Given the description of an element on the screen output the (x, y) to click on. 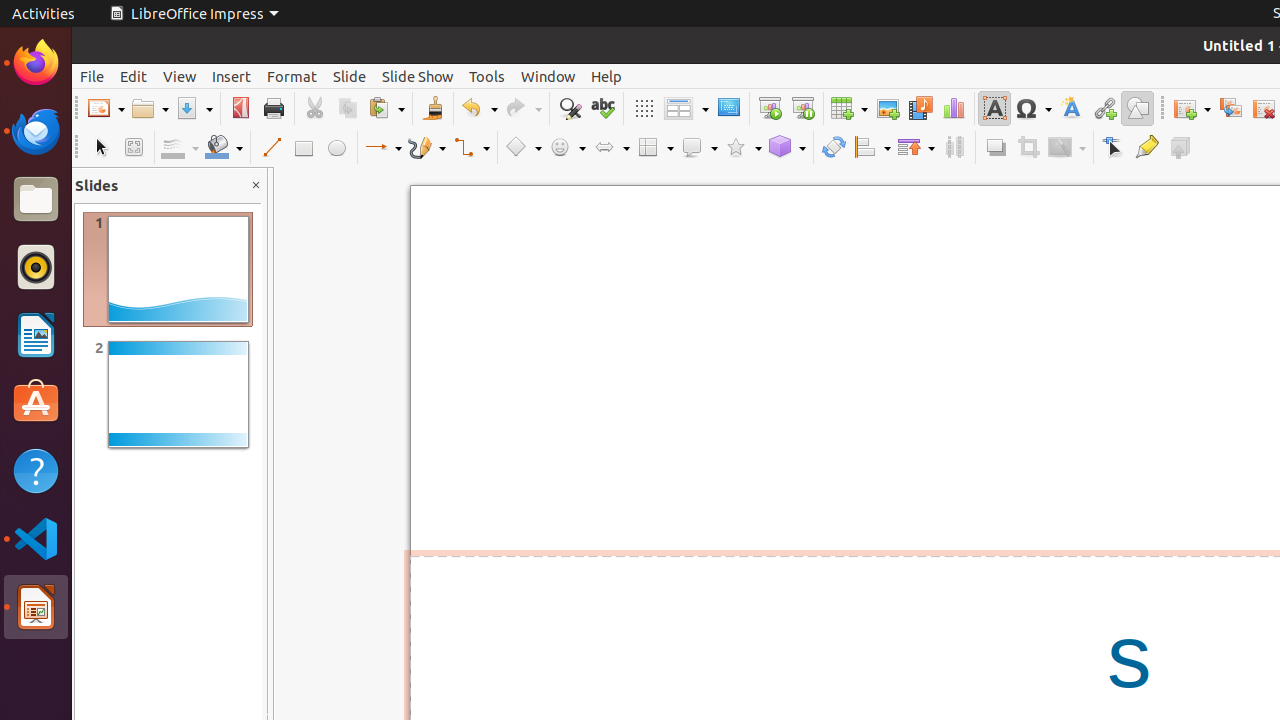
Media Element type: push-button (920, 108)
Visual Studio Code Element type: push-button (36, 538)
Edit Points Element type: push-button (1113, 147)
LibreOffice Impress Element type: push-button (36, 607)
3D Objects Element type: push-button (787, 147)
